Given the description of an element on the screen output the (x, y) to click on. 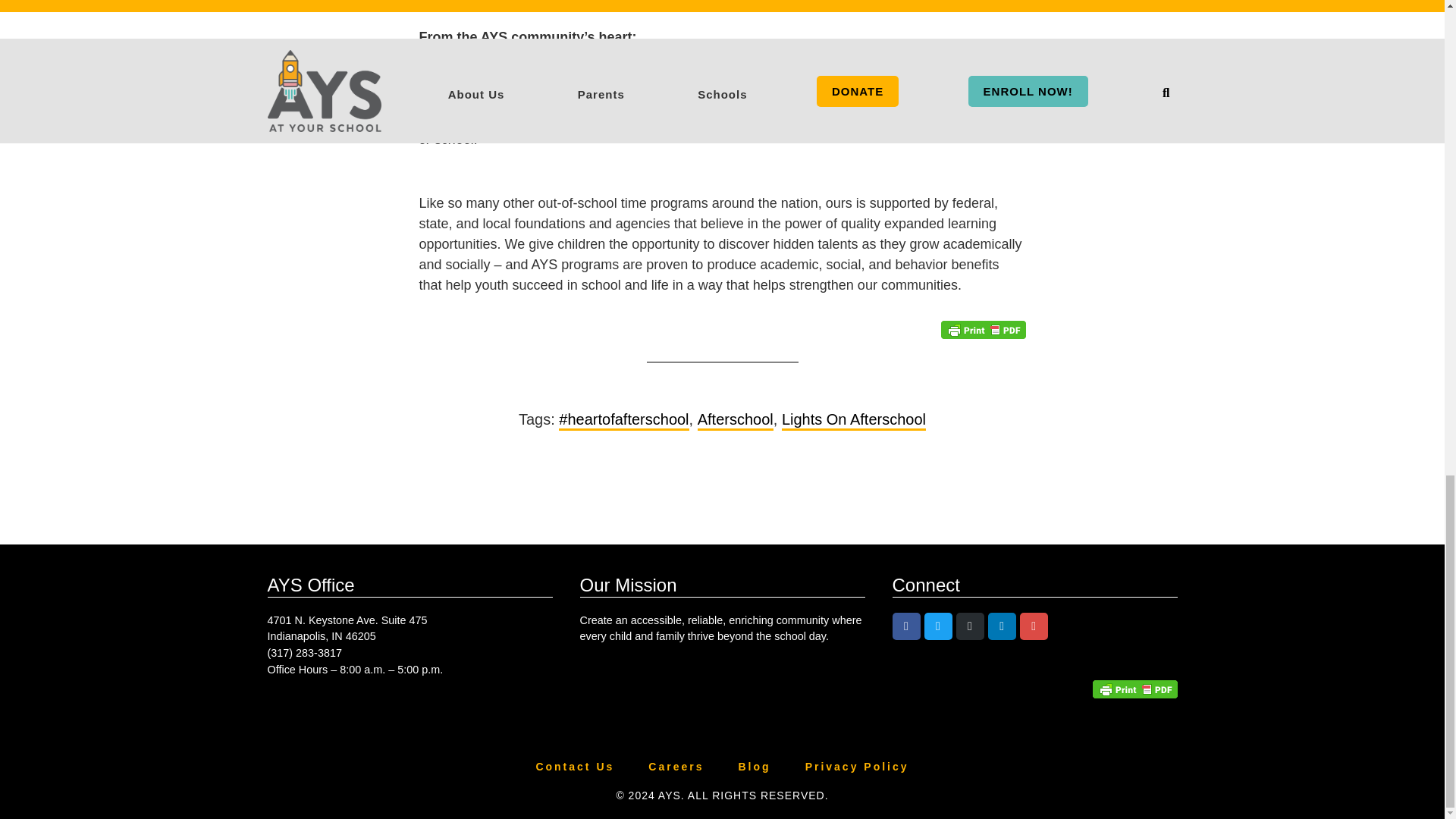
AYS on LinkedIn (1002, 625)
AYS on YouTube (1034, 625)
AYS on Instagram (970, 625)
AYS on Twitter (938, 625)
AYS on Facebook (905, 625)
